Given the description of an element on the screen output the (x, y) to click on. 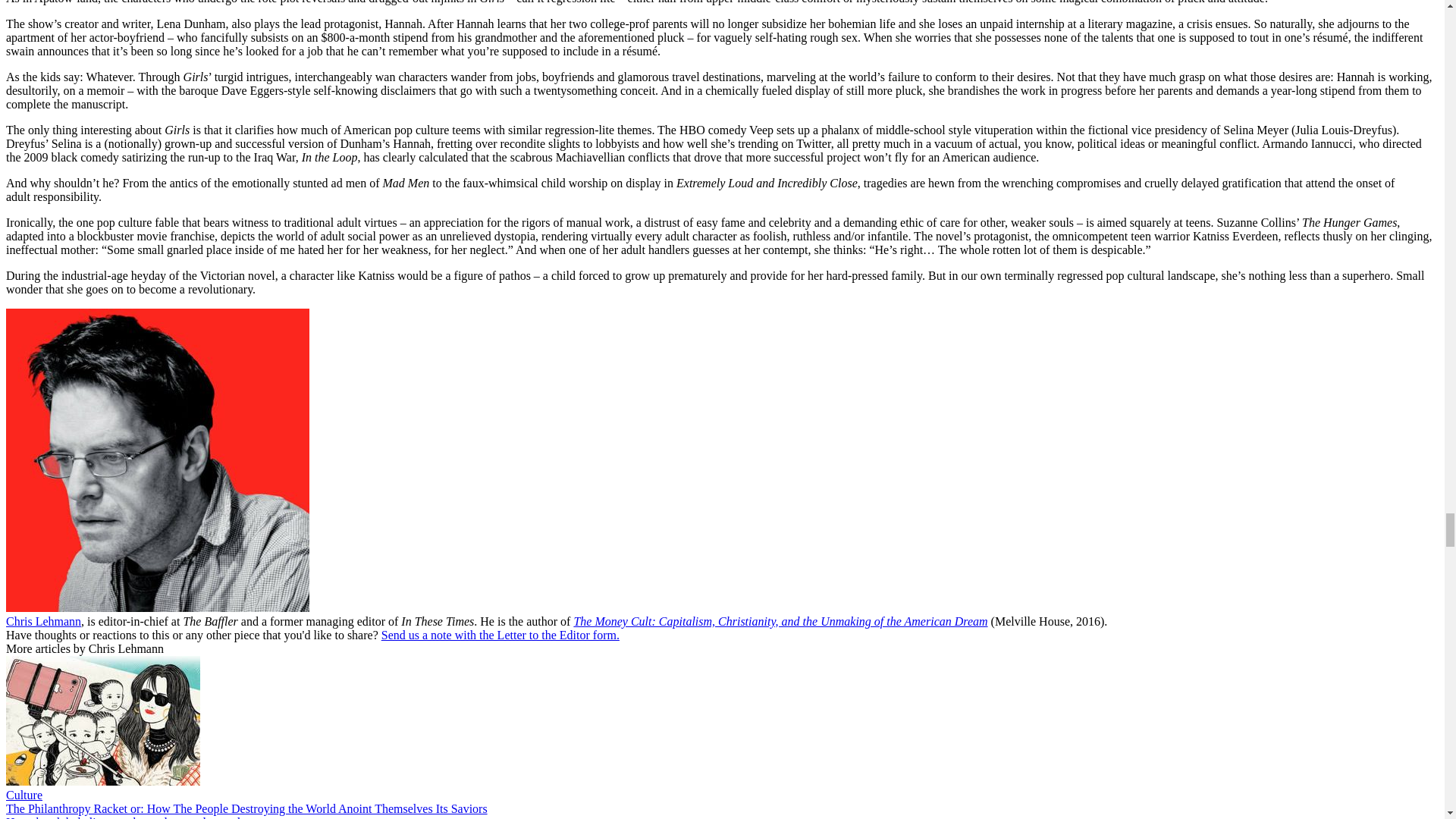
Send us a note with the Letter to the Editor form. (500, 634)
Chris Lehmann (43, 621)
